Given the description of an element on the screen output the (x, y) to click on. 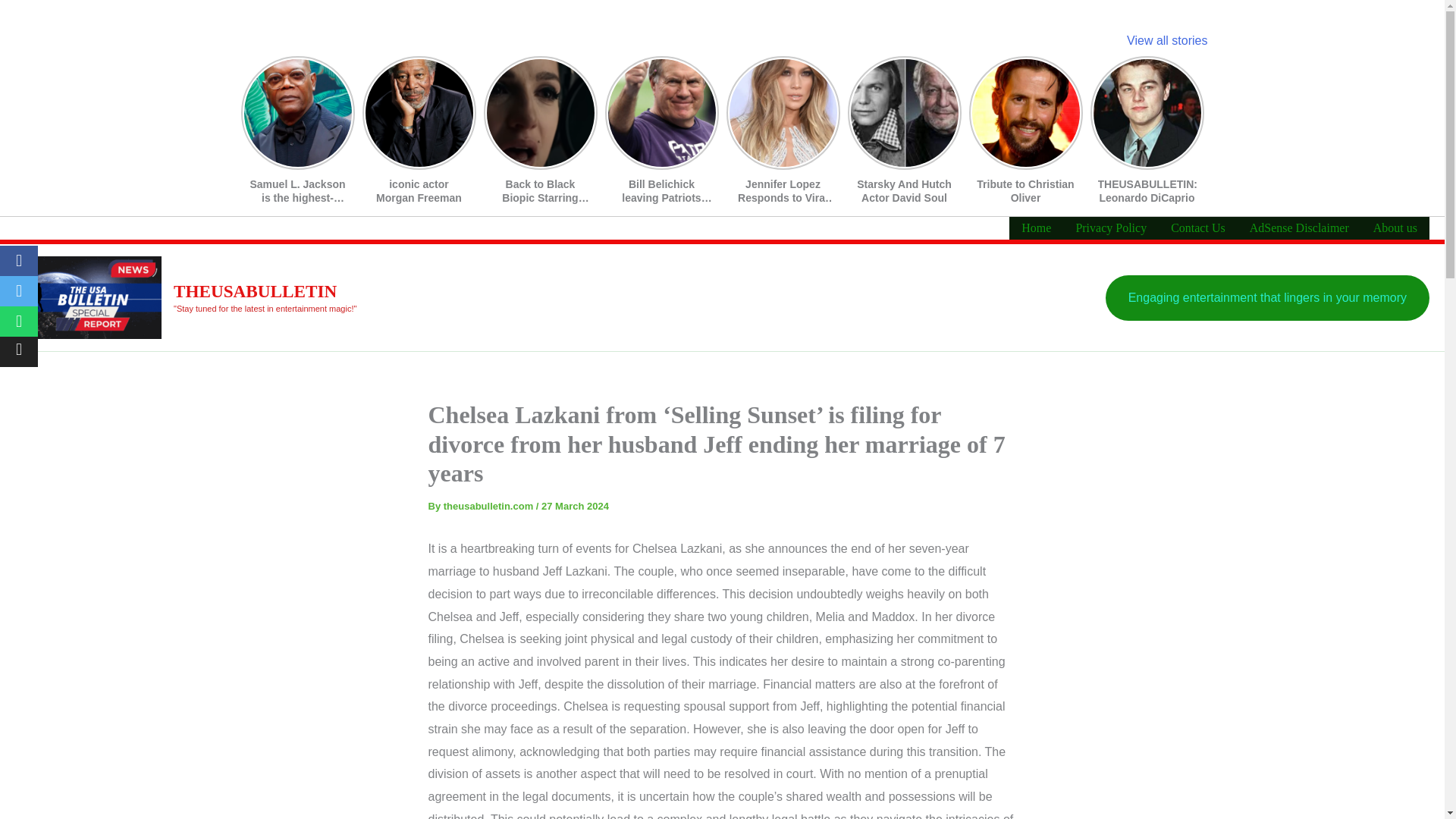
theusabulletin.com (489, 505)
Engaging entertainment that lingers in your memory (1267, 298)
Privacy Policy (1110, 228)
View all stories (1166, 40)
View all posts by theusabulletin.com (489, 505)
About us (1395, 228)
Contact Us (1197, 228)
THEUSABULLETIN (254, 291)
AdSense Disclaimer (1299, 228)
Home (1035, 228)
